Given the description of an element on the screen output the (x, y) to click on. 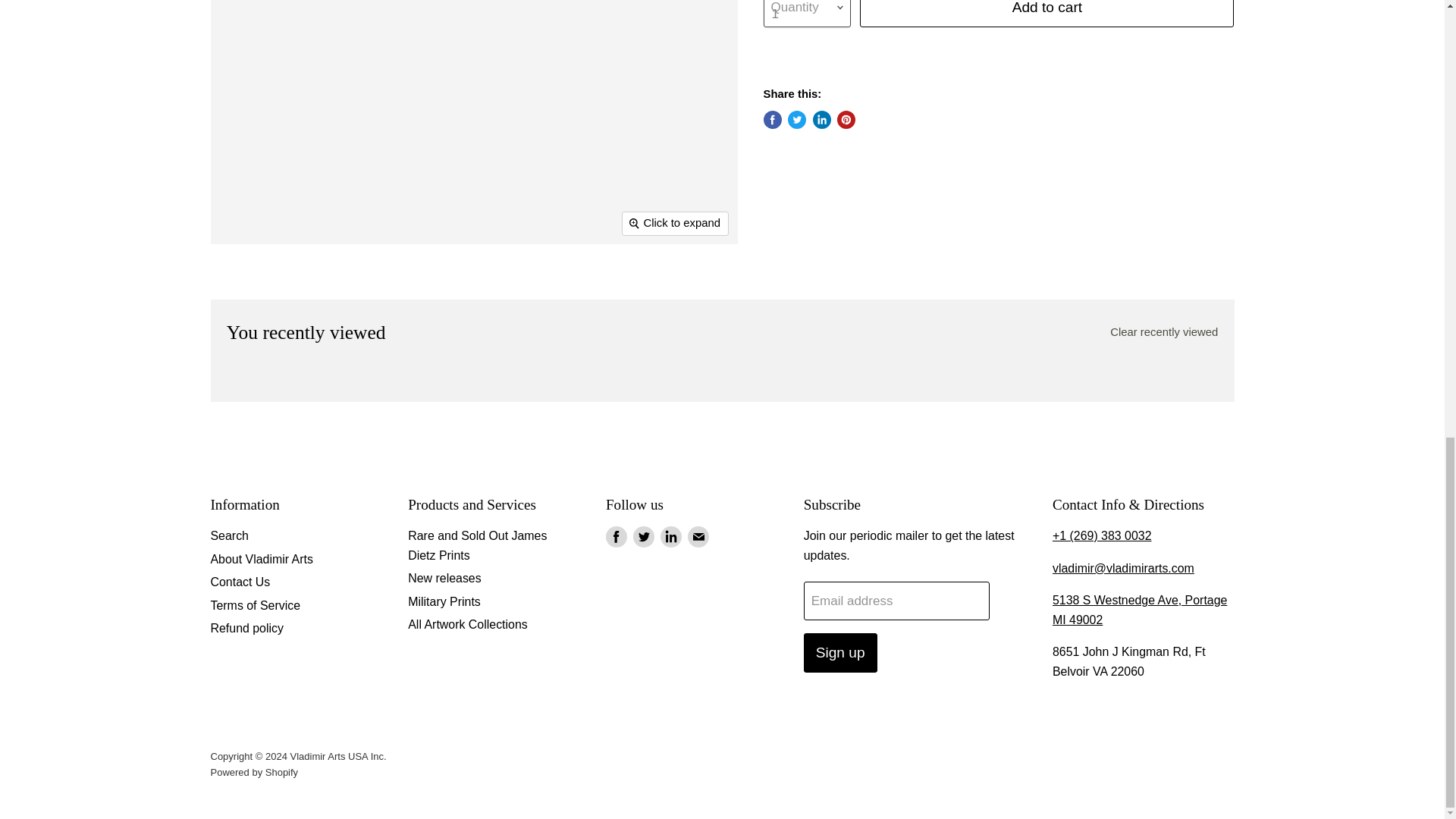
Directions to Vladimir Arts (1139, 609)
Email Vladimir Arts (1122, 567)
Facebook (616, 536)
Email (698, 536)
Call Vladimir Arts. (1101, 535)
Twitter (643, 536)
LinkedIn (671, 536)
